Given the description of an element on the screen output the (x, y) to click on. 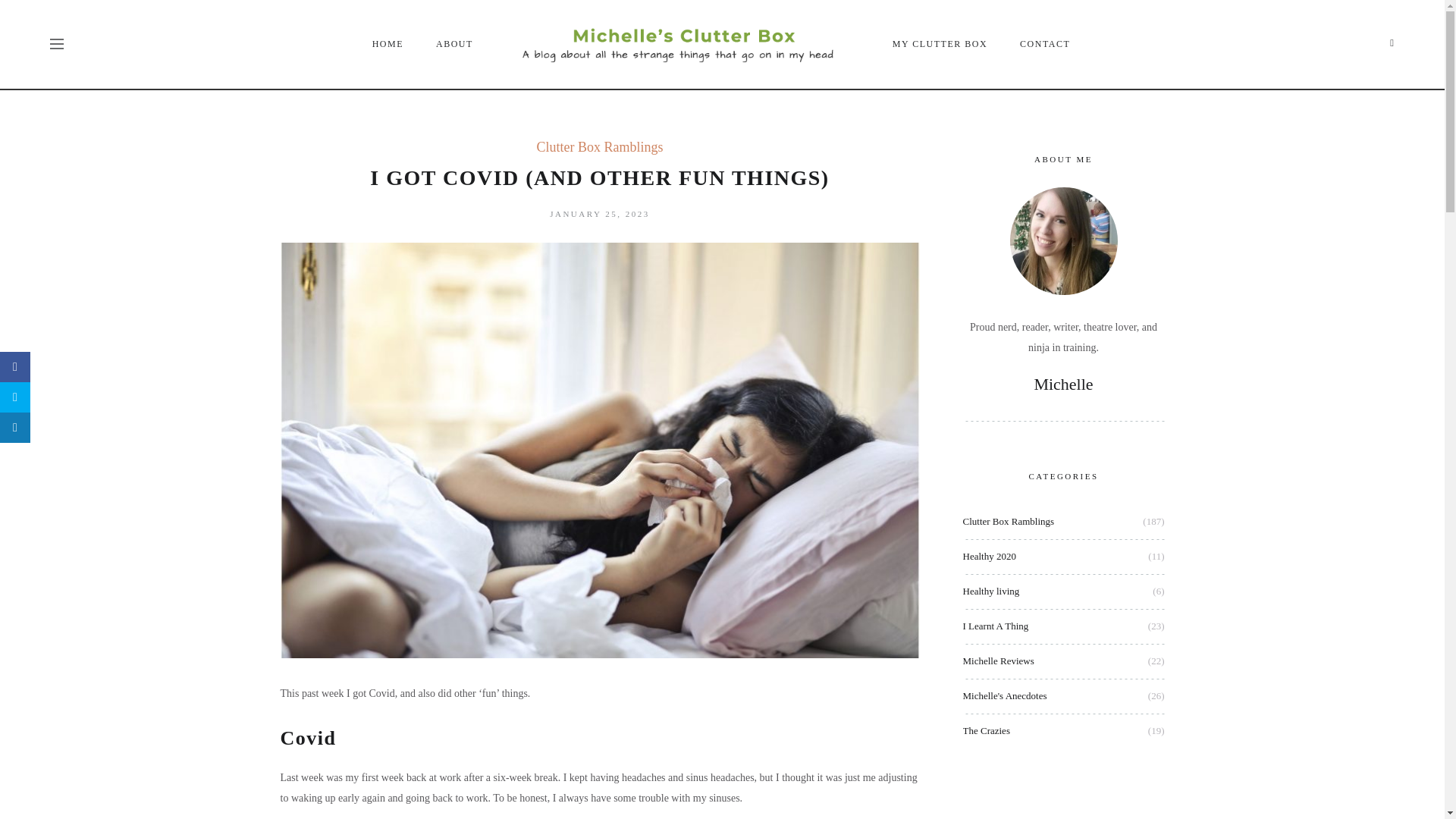
MY CLUTTER BOX (940, 43)
ABOUT (455, 43)
CONTACT (1045, 43)
Facebook (1392, 42)
Clutter Box Ramblings (598, 147)
HOME (388, 43)
